Given the description of an element on the screen output the (x, y) to click on. 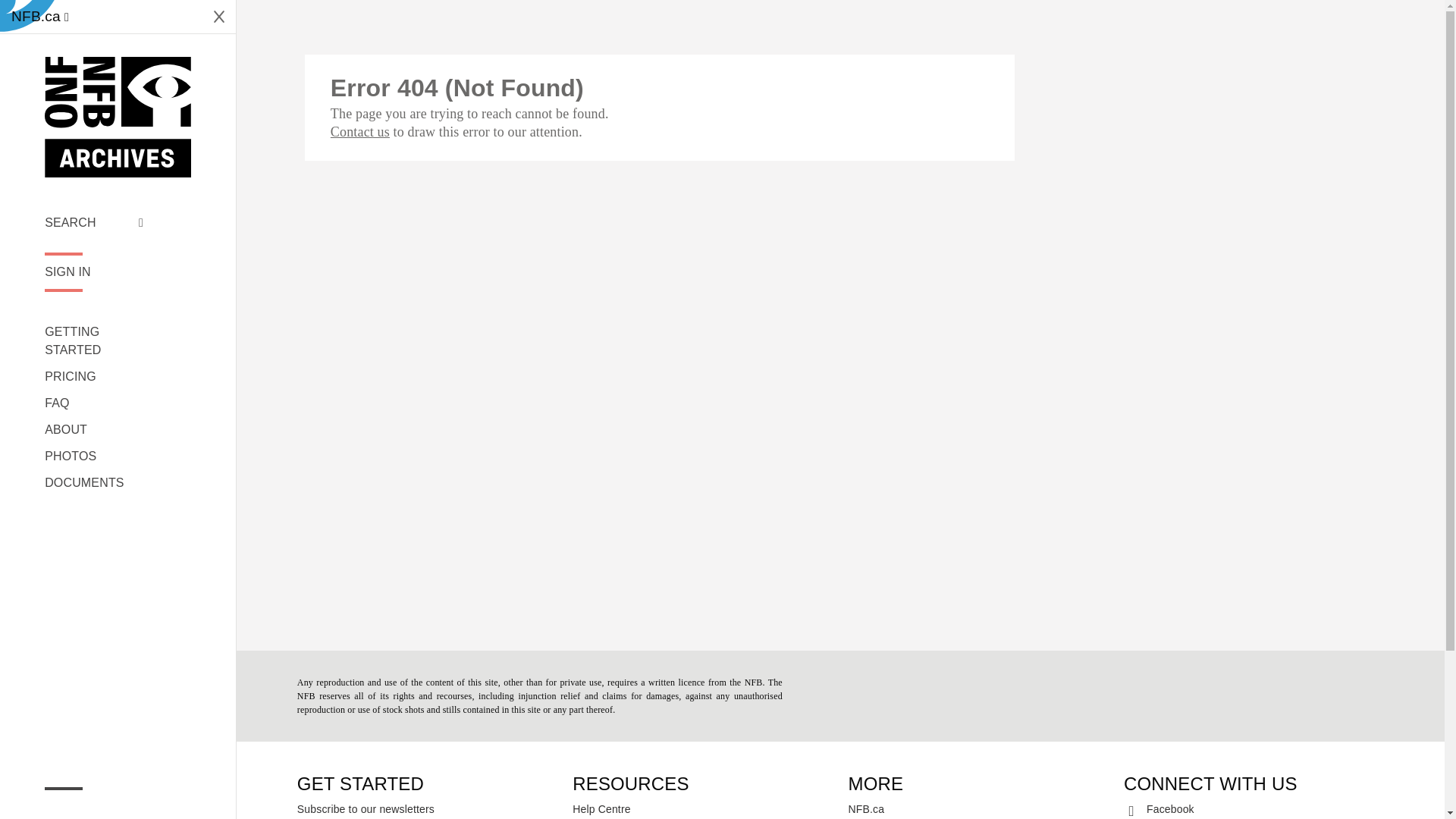
Facebook (1254, 808)
DOCUMENTS (93, 483)
ABOUT (93, 429)
Subscribe to our newsletters (427, 808)
PHOTOS (93, 456)
FAQ (93, 402)
Contact us (360, 131)
PRICING (93, 376)
Help Centre (702, 808)
Watch films on NFB.ca (39, 16)
